Given the description of an element on the screen output the (x, y) to click on. 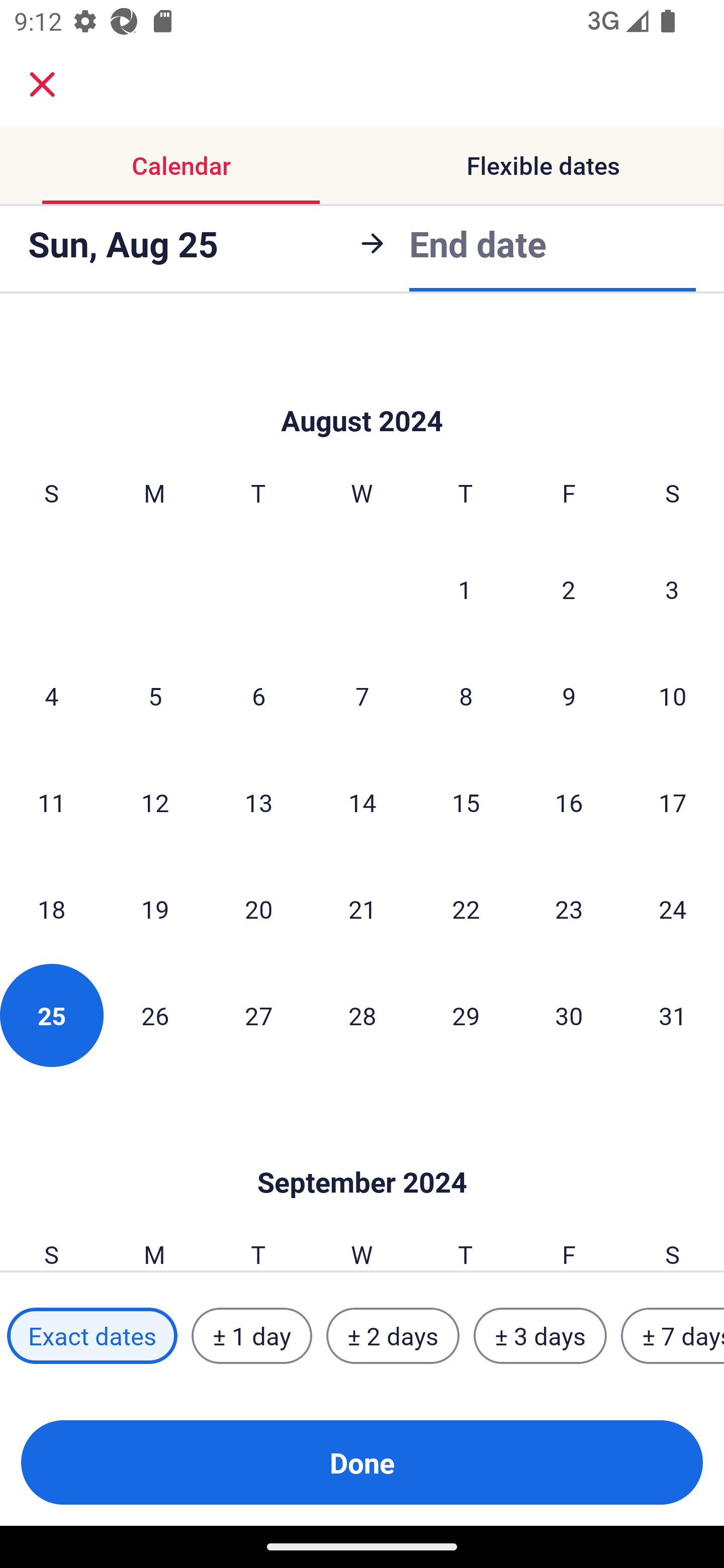
close. (42, 84)
Flexible dates (542, 164)
End date (477, 243)
Skip to Done (362, 390)
1 Thursday, August 1, 2024 (464, 589)
2 Friday, August 2, 2024 (568, 589)
3 Saturday, August 3, 2024 (672, 589)
4 Sunday, August 4, 2024 (51, 695)
5 Monday, August 5, 2024 (155, 695)
6 Tuesday, August 6, 2024 (258, 695)
7 Wednesday, August 7, 2024 (362, 695)
8 Thursday, August 8, 2024 (465, 695)
9 Friday, August 9, 2024 (569, 695)
10 Saturday, August 10, 2024 (672, 695)
11 Sunday, August 11, 2024 (51, 802)
12 Monday, August 12, 2024 (155, 802)
13 Tuesday, August 13, 2024 (258, 802)
14 Wednesday, August 14, 2024 (362, 802)
15 Thursday, August 15, 2024 (465, 802)
16 Friday, August 16, 2024 (569, 802)
17 Saturday, August 17, 2024 (672, 802)
18 Sunday, August 18, 2024 (51, 908)
19 Monday, August 19, 2024 (155, 908)
20 Tuesday, August 20, 2024 (258, 908)
21 Wednesday, August 21, 2024 (362, 908)
22 Thursday, August 22, 2024 (465, 908)
23 Friday, August 23, 2024 (569, 908)
24 Saturday, August 24, 2024 (672, 908)
26 Monday, August 26, 2024 (155, 1015)
27 Tuesday, August 27, 2024 (258, 1015)
28 Wednesday, August 28, 2024 (362, 1015)
29 Thursday, August 29, 2024 (465, 1015)
30 Friday, August 30, 2024 (569, 1015)
31 Saturday, August 31, 2024 (672, 1015)
Skip to Done (362, 1152)
Exact dates (92, 1335)
± 1 day (251, 1335)
± 2 days (392, 1335)
± 3 days (539, 1335)
± 7 days (672, 1335)
Done (361, 1462)
